Given the description of an element on the screen output the (x, y) to click on. 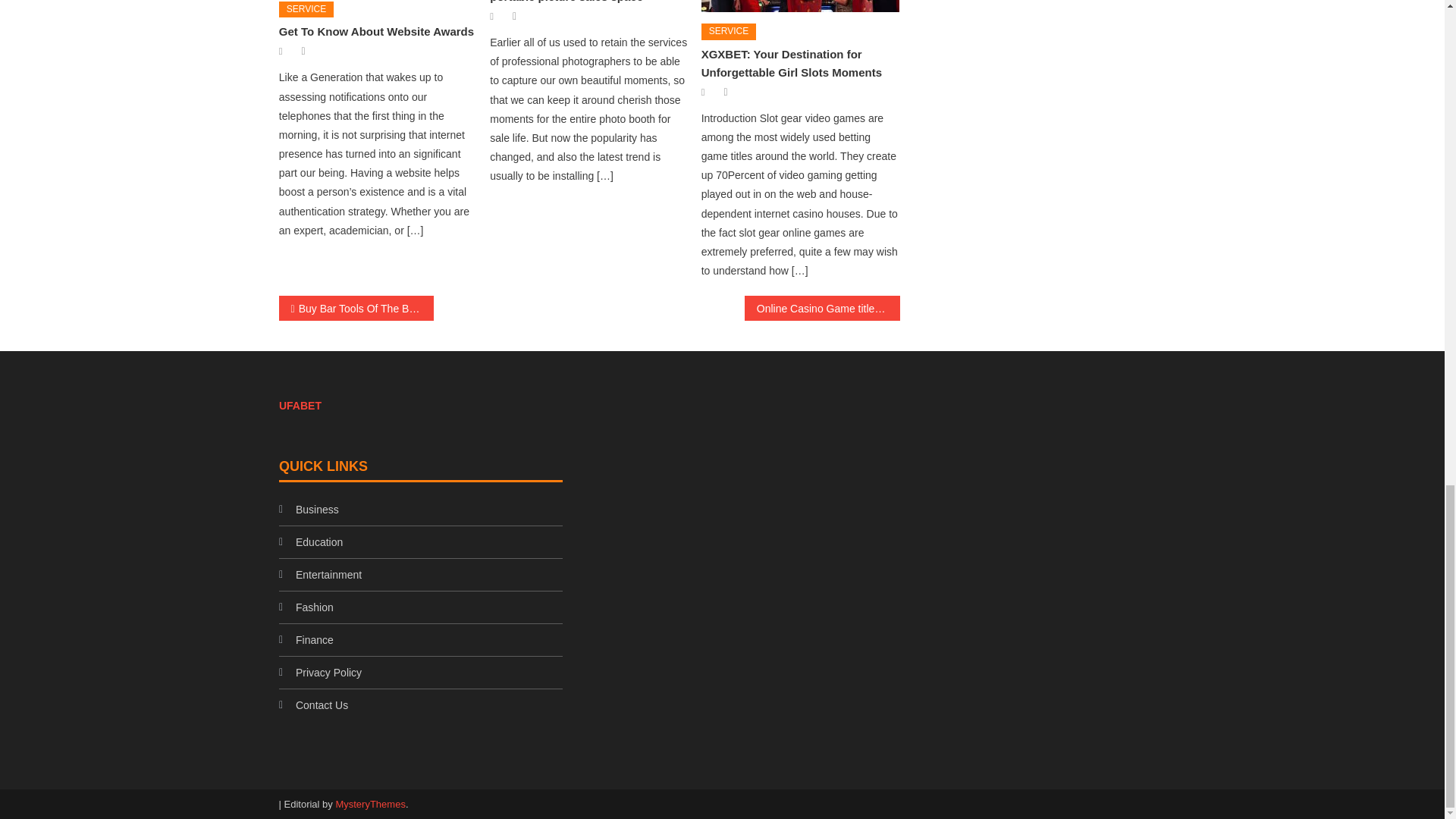
SERVICE (306, 9)
Get To Know About Website Awards (376, 31)
